Given the description of an element on the screen output the (x, y) to click on. 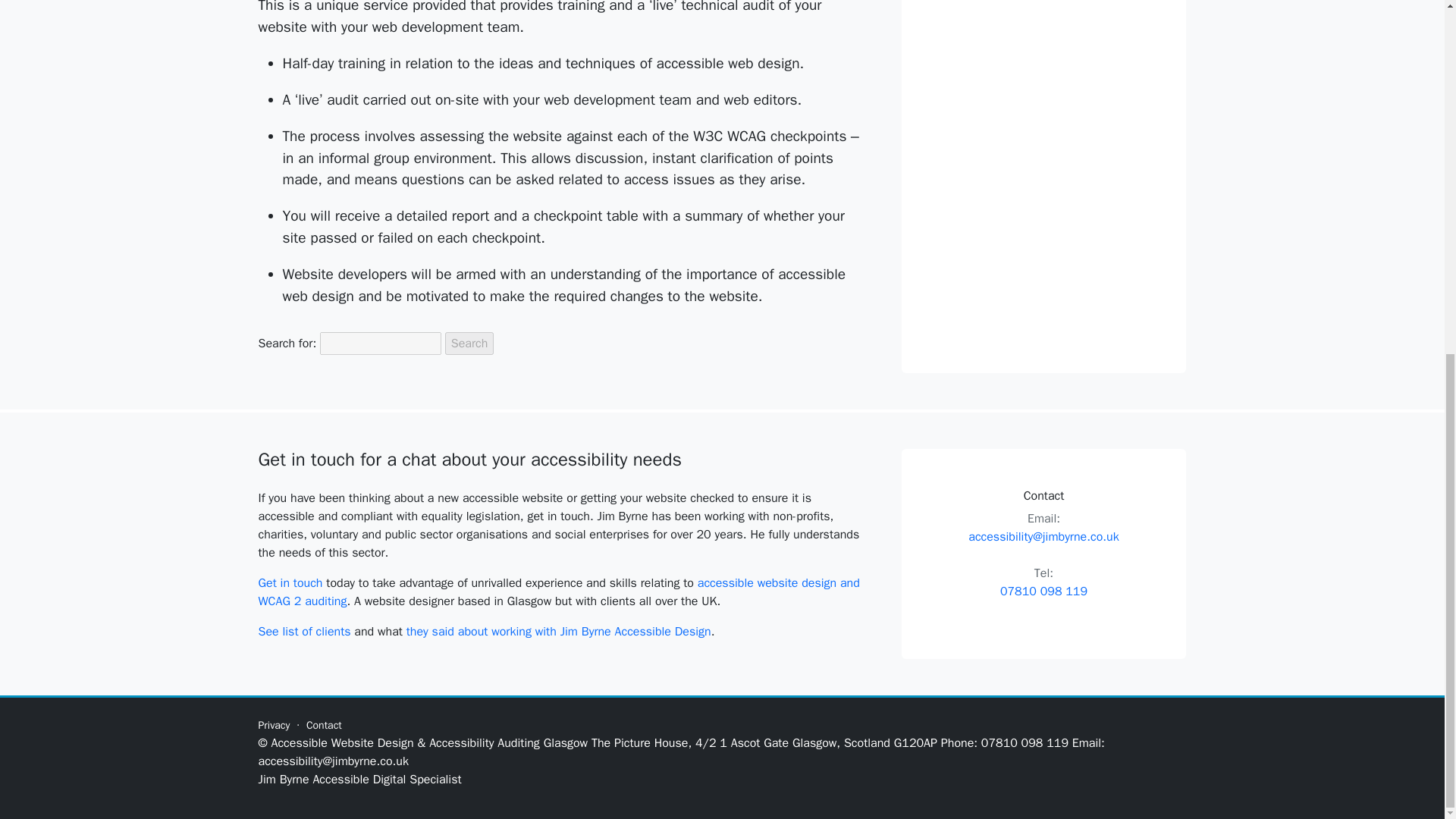
Get in touch (289, 582)
Search (470, 343)
See list of clients (303, 631)
Search (470, 343)
07810 098 119 (1043, 590)
accessible website design and WCAG 2 auditing (558, 592)
they said about working with Jim Byrne Accessible Design (558, 631)
Contact (323, 725)
Privacy (273, 725)
